Given the description of an element on the screen output the (x, y) to click on. 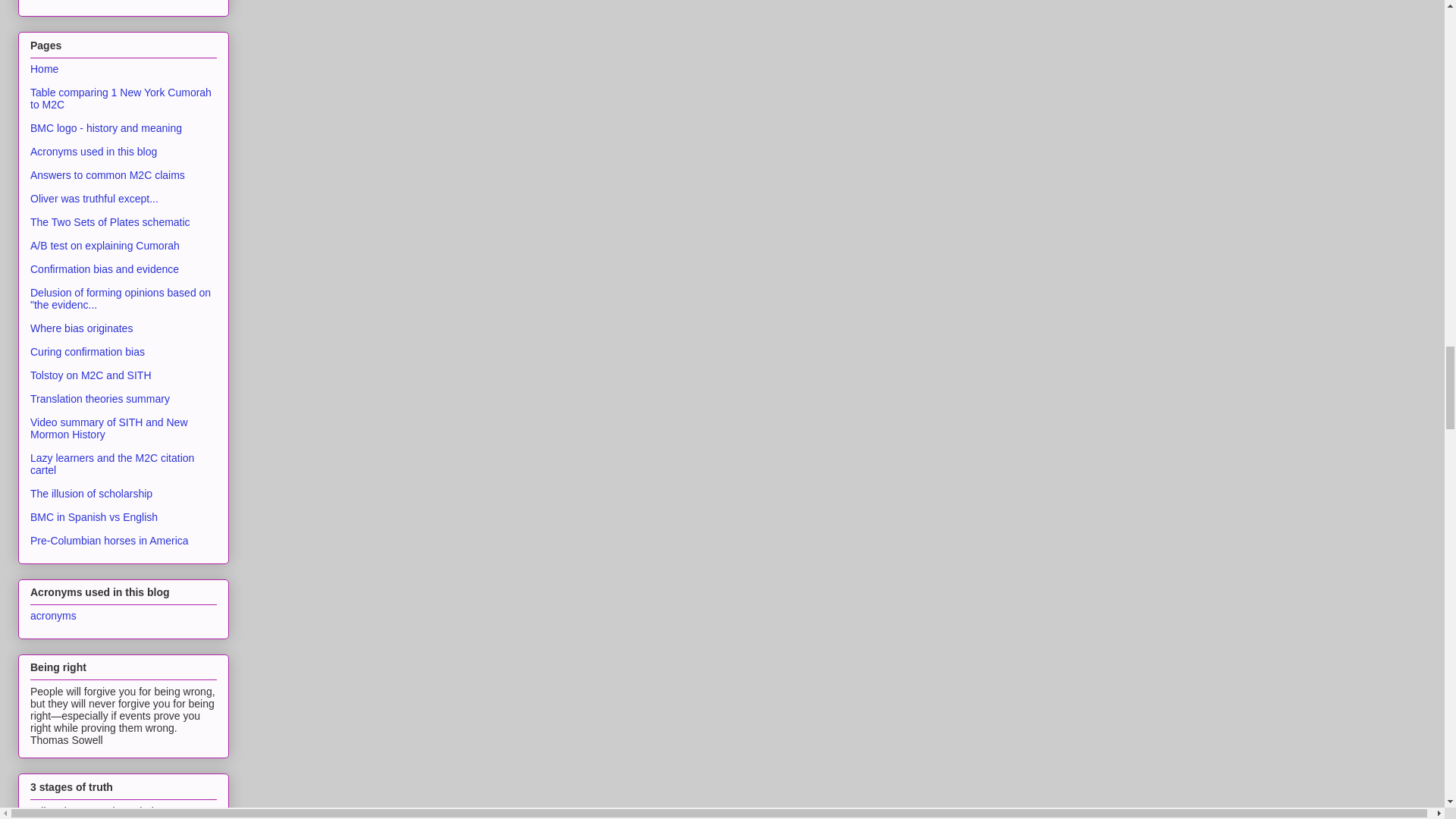
Answers to common M2C claims (107, 174)
The Two Sets of Plates schematic (110, 221)
BMC logo - history and meaning (106, 127)
Home (44, 68)
Where bias originates (81, 327)
Tolstoy on M2C and SITH (90, 374)
Table comparing 1 New York Cumorah to M2C (120, 98)
Acronyms used in this blog (93, 151)
Delusion of forming opinions based on "the evidenc... (120, 298)
Curing confirmation bias (87, 351)
Confirmation bias and evidence (104, 268)
Oliver was truthful except... (94, 198)
Translation theories summary (100, 398)
